Given the description of an element on the screen output the (x, y) to click on. 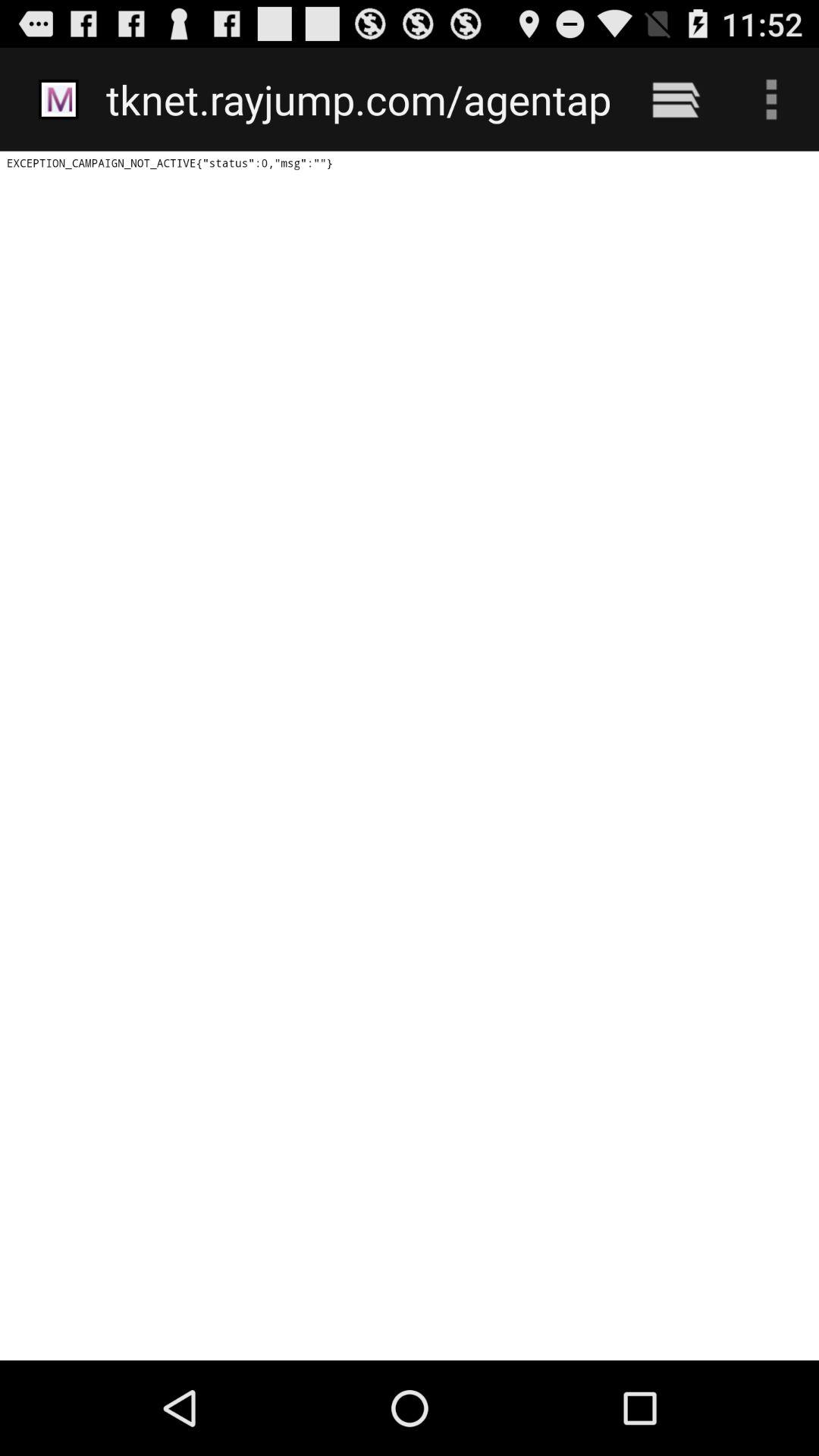
launch icon below the tknet rayjump com icon (409, 755)
